Given the description of an element on the screen output the (x, y) to click on. 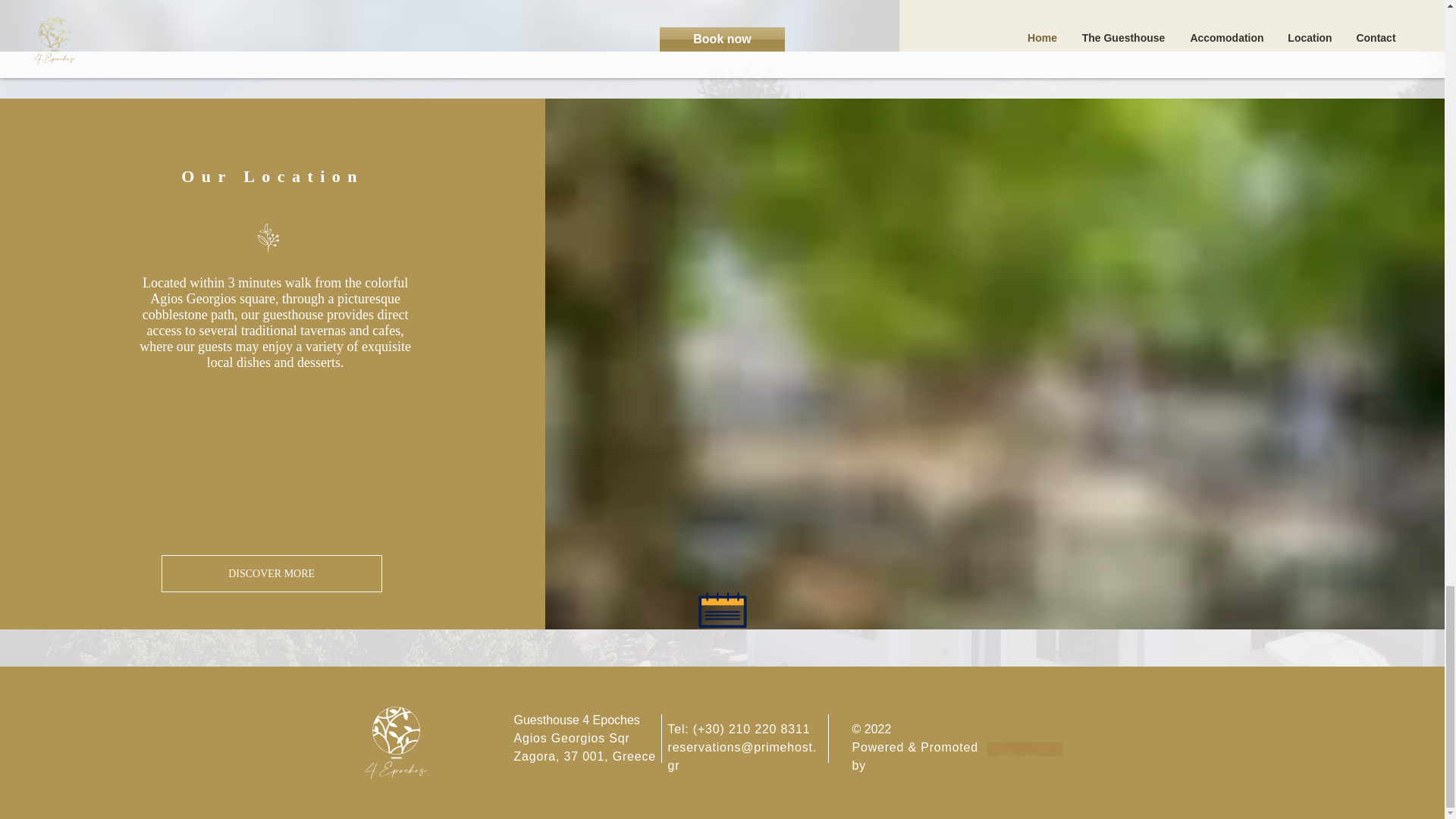
DISCOVER MORE (271, 573)
